Given the description of an element on the screen output the (x, y) to click on. 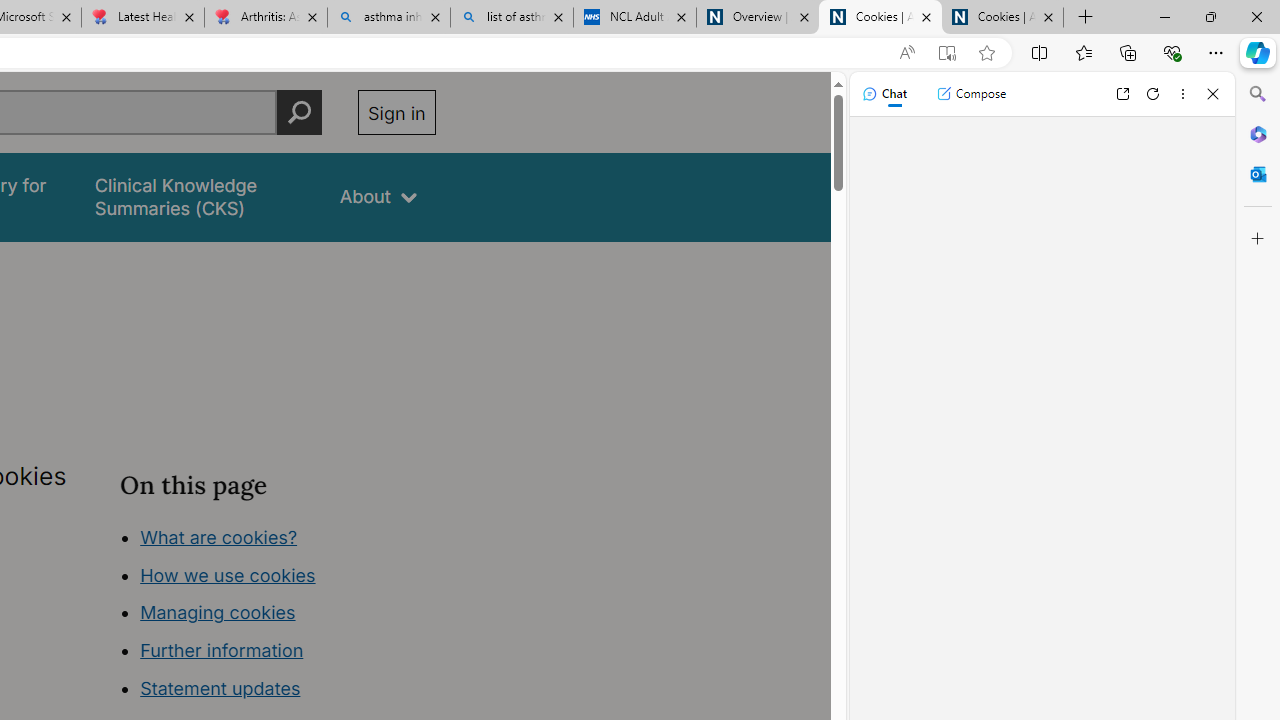
Compose (971, 93)
Cookies | About | NICE (1002, 17)
Chat (884, 93)
false (198, 196)
